Given the description of an element on the screen output the (x, y) to click on. 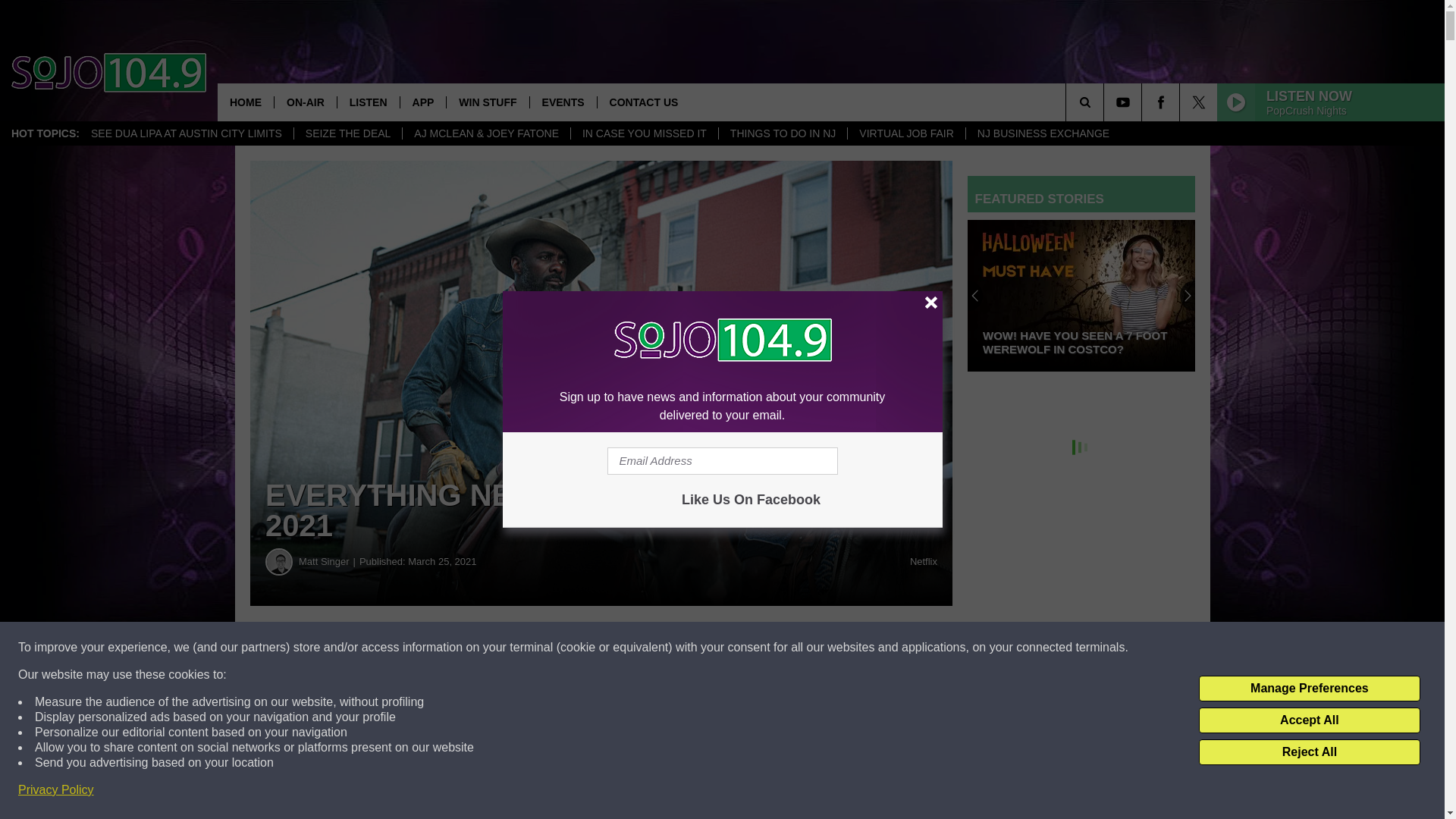
Email Address (722, 461)
NJ BUSINESS EXCHANGE (1043, 133)
ON-AIR (304, 102)
SEIZE THE DEAL (348, 133)
WIN STUFF (486, 102)
IN CASE YOU MISSED IT (643, 133)
HOME (244, 102)
LISTEN (367, 102)
Manage Preferences (1309, 688)
SEARCH (1106, 102)
Reject All (1309, 751)
Share on Facebook (460, 647)
THINGS TO DO IN NJ (782, 133)
SEE DUA LIPA AT AUSTIN CITY LIMITS (187, 133)
VIRTUAL JOB FAIR (905, 133)
